Given the description of an element on the screen output the (x, y) to click on. 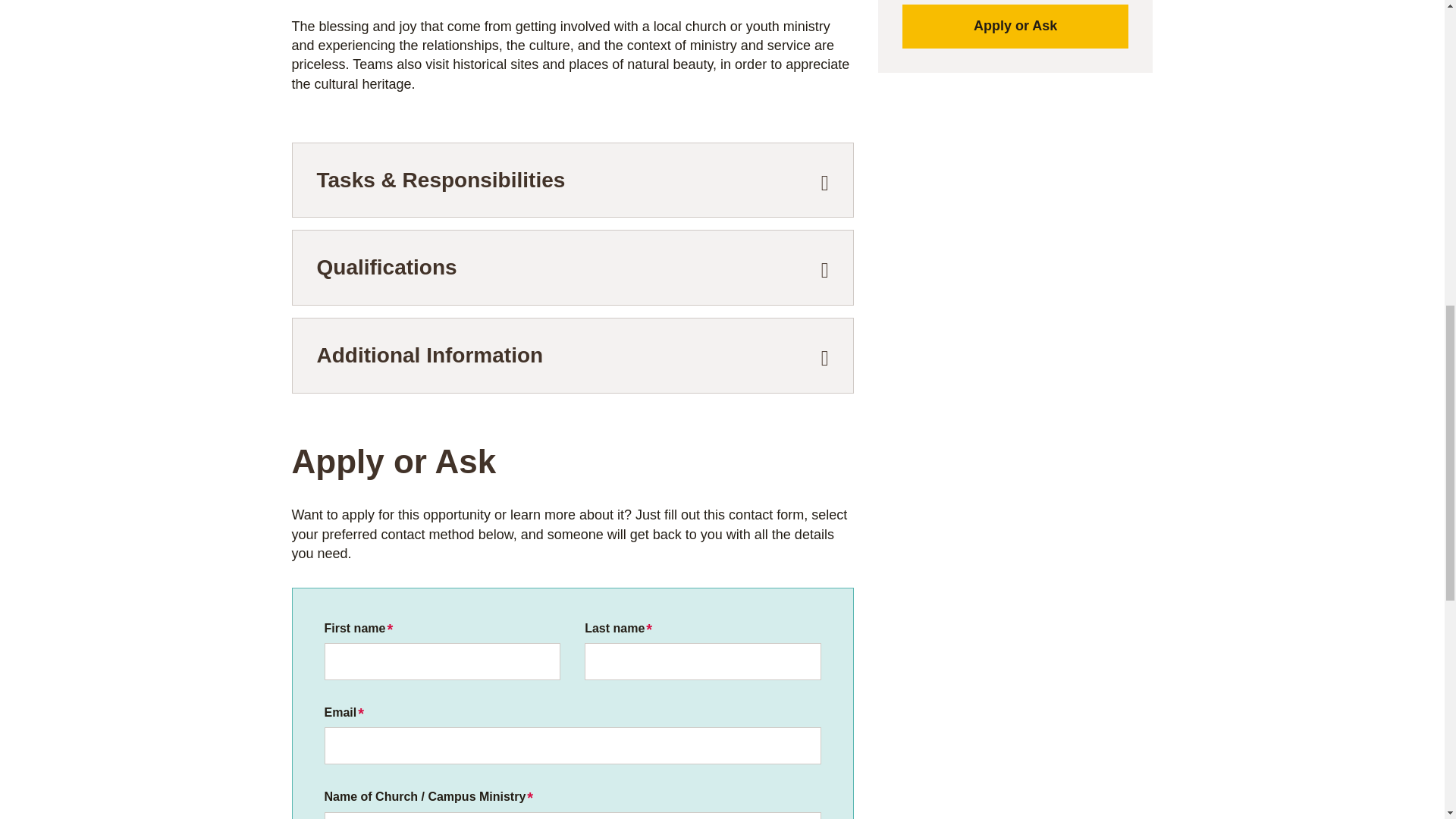
Qualifications (572, 267)
Apply or Ask (1015, 25)
Additional Information (572, 355)
